Given the description of an element on the screen output the (x, y) to click on. 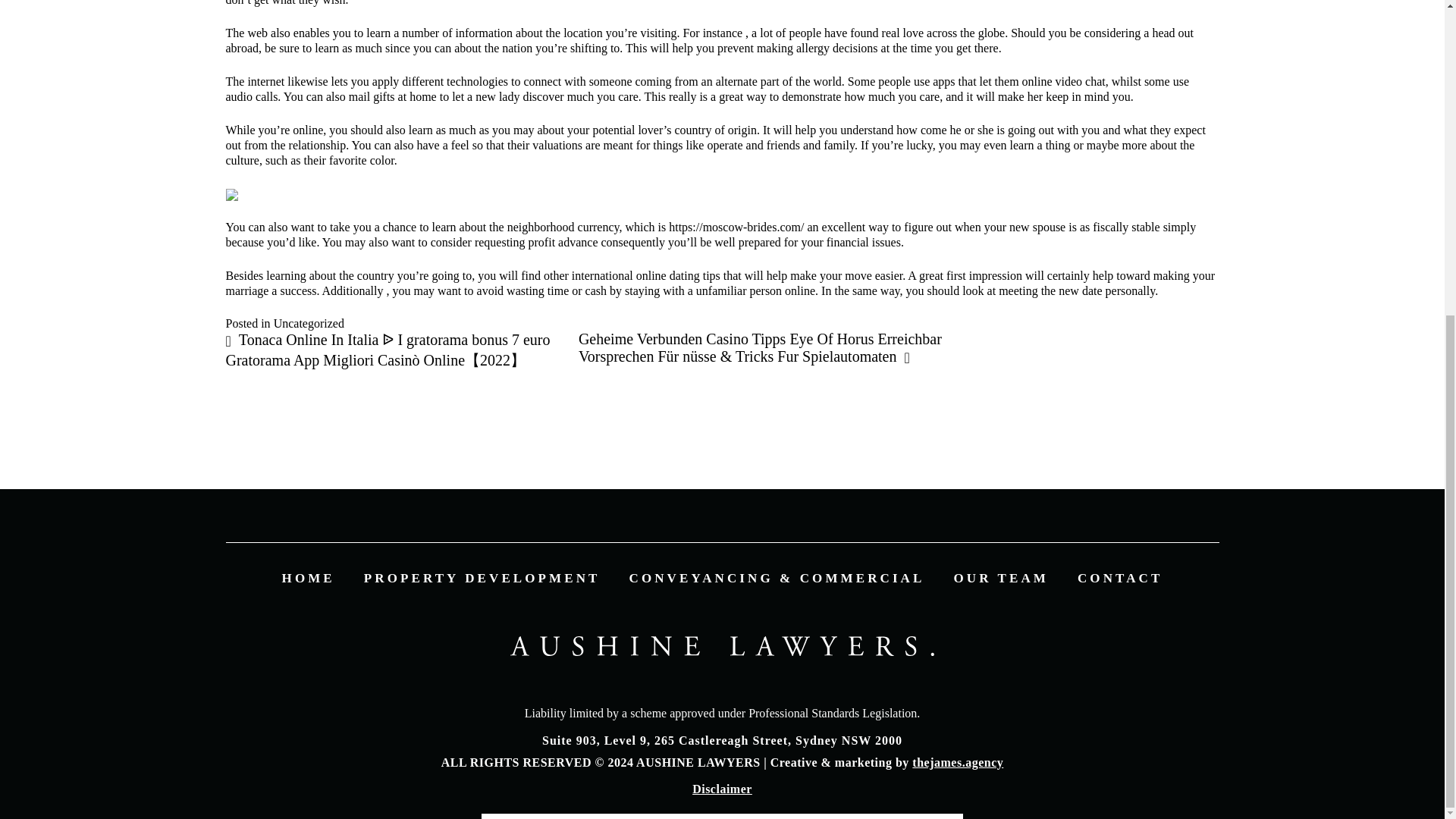
Suite 903, Level 9, 265 Castlereagh Street, Sydney NSW 2000 (721, 739)
Disclaimer (722, 788)
CONTACT (1119, 577)
Disclaimer (722, 788)
PROPERTY DEVELOPMENT (481, 577)
OUR TEAM (1000, 577)
HOME (308, 577)
thejames.agency (957, 762)
Uncategorized (308, 323)
